Given the description of an element on the screen output the (x, y) to click on. 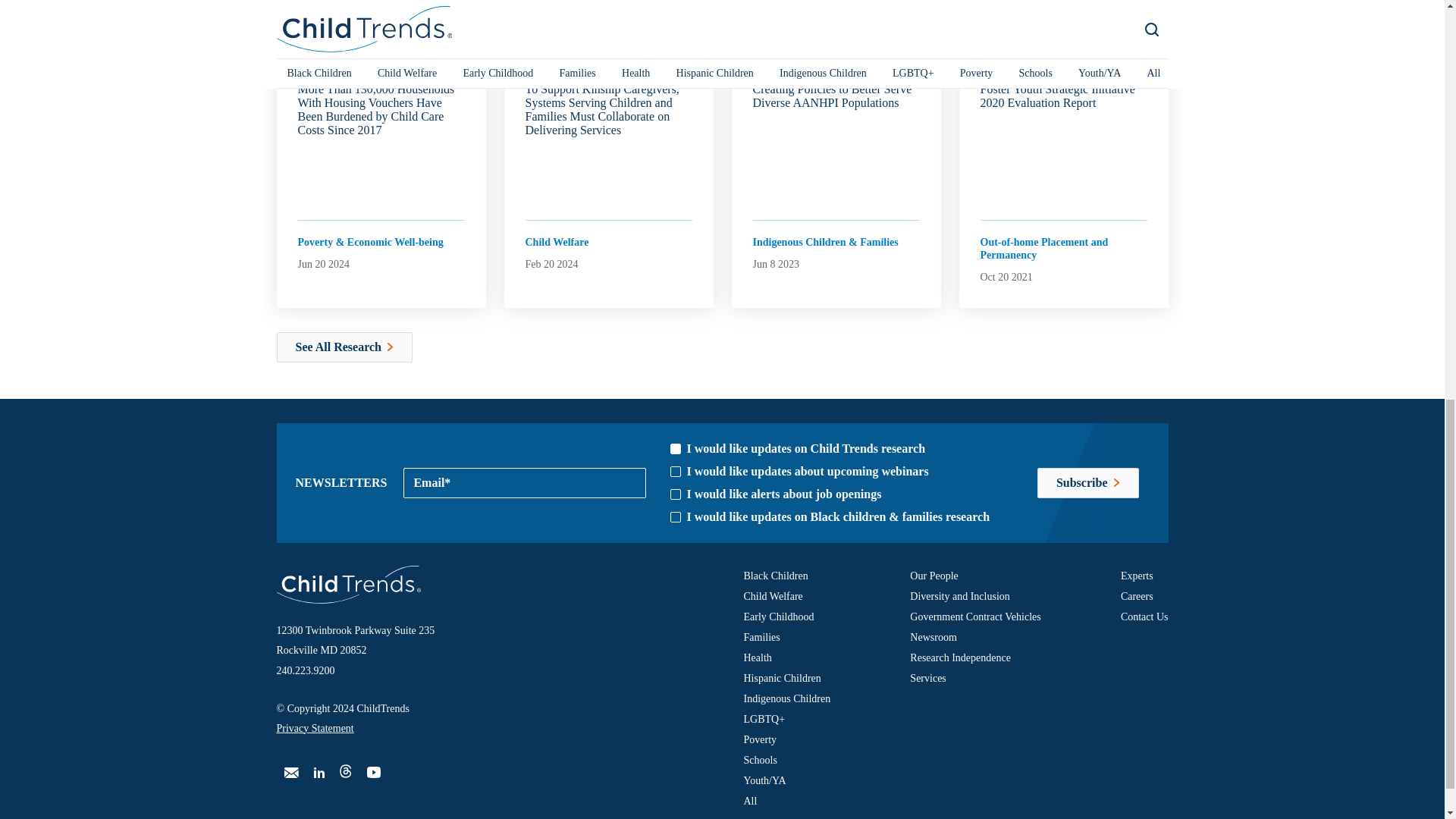
Foster Youth Strategic Initiative 2020 Evaluation Report (1063, 304)
Creating Policies to Better Serve Diverse AANHPI Populations (835, 304)
Child Welfare (556, 450)
